Given the description of an element on the screen output the (x, y) to click on. 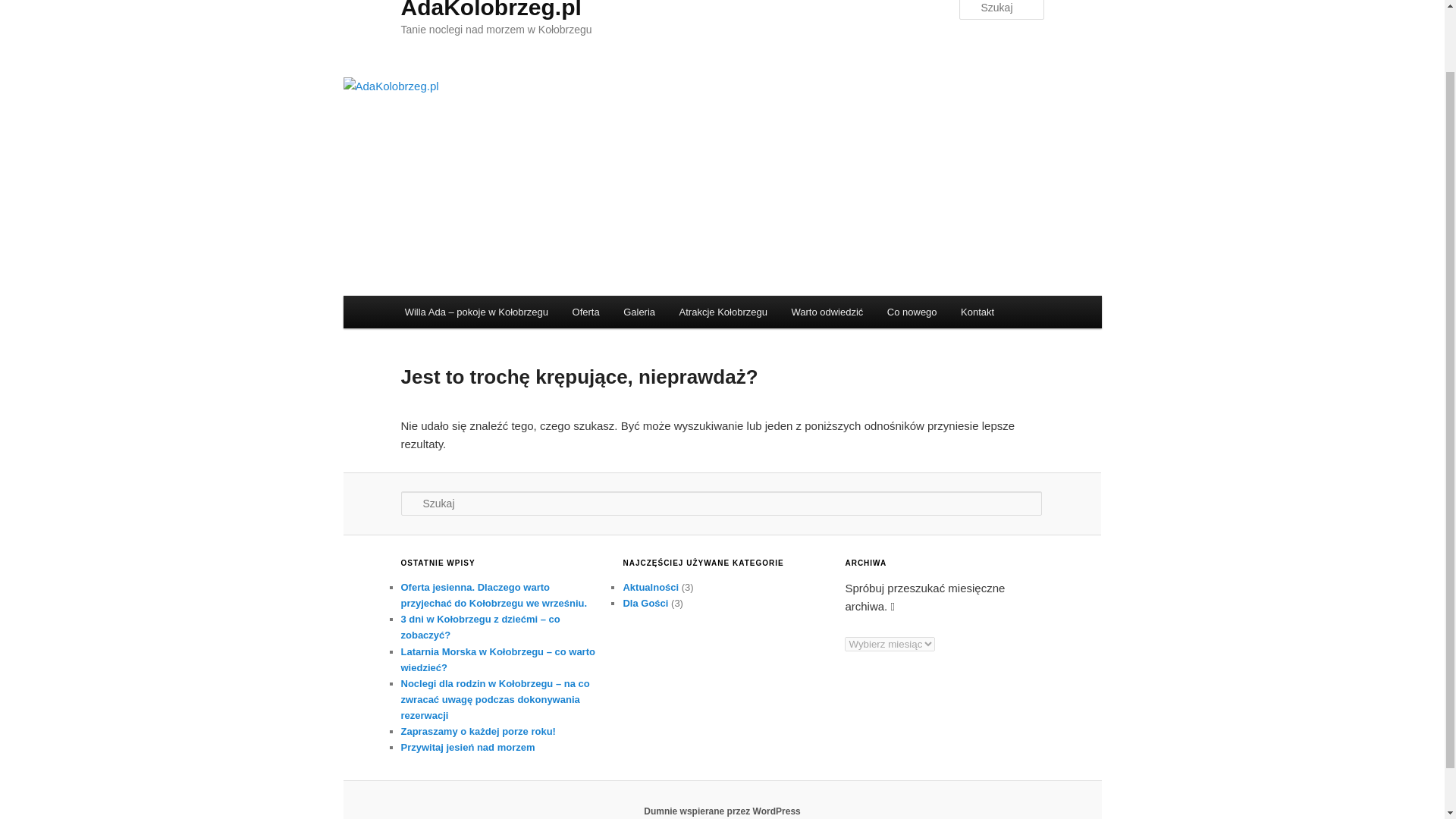
Dumnie wspierane przez WordPress (721, 810)
AdaKolobrzeg.pl (490, 9)
Galeria (638, 311)
Semantyczna platforma publikowania osobistego (721, 810)
Oferta (585, 311)
Kontakt (977, 311)
Co nowego (912, 311)
